Given the description of an element on the screen output the (x, y) to click on. 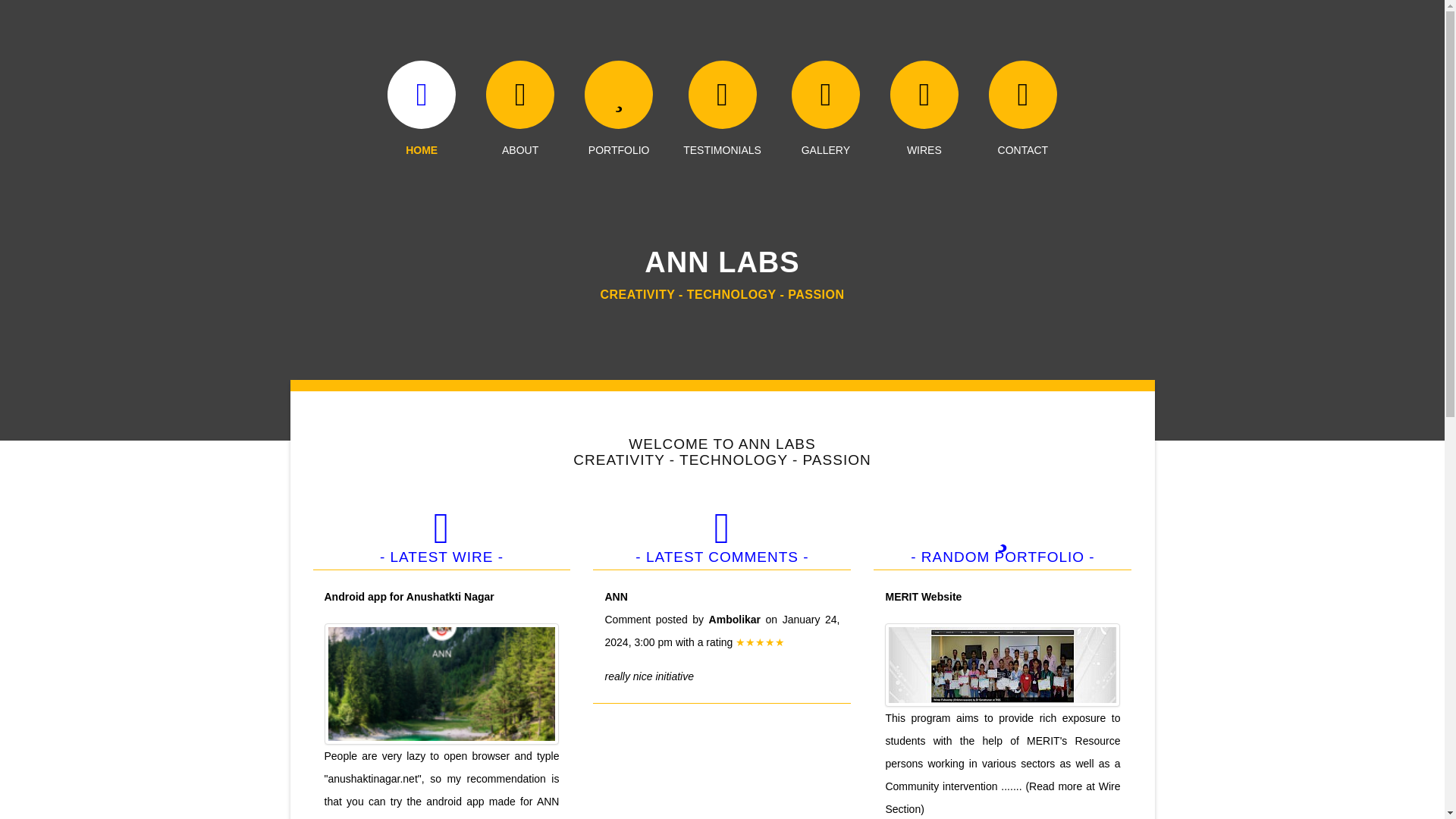
GALLERY (826, 137)
ABOUT (520, 137)
PORTFOLIO (618, 137)
HOME (421, 137)
WIRES (923, 137)
CONTACT (1022, 137)
TESTIMONIALS (721, 137)
